Given the description of an element on the screen output the (x, y) to click on. 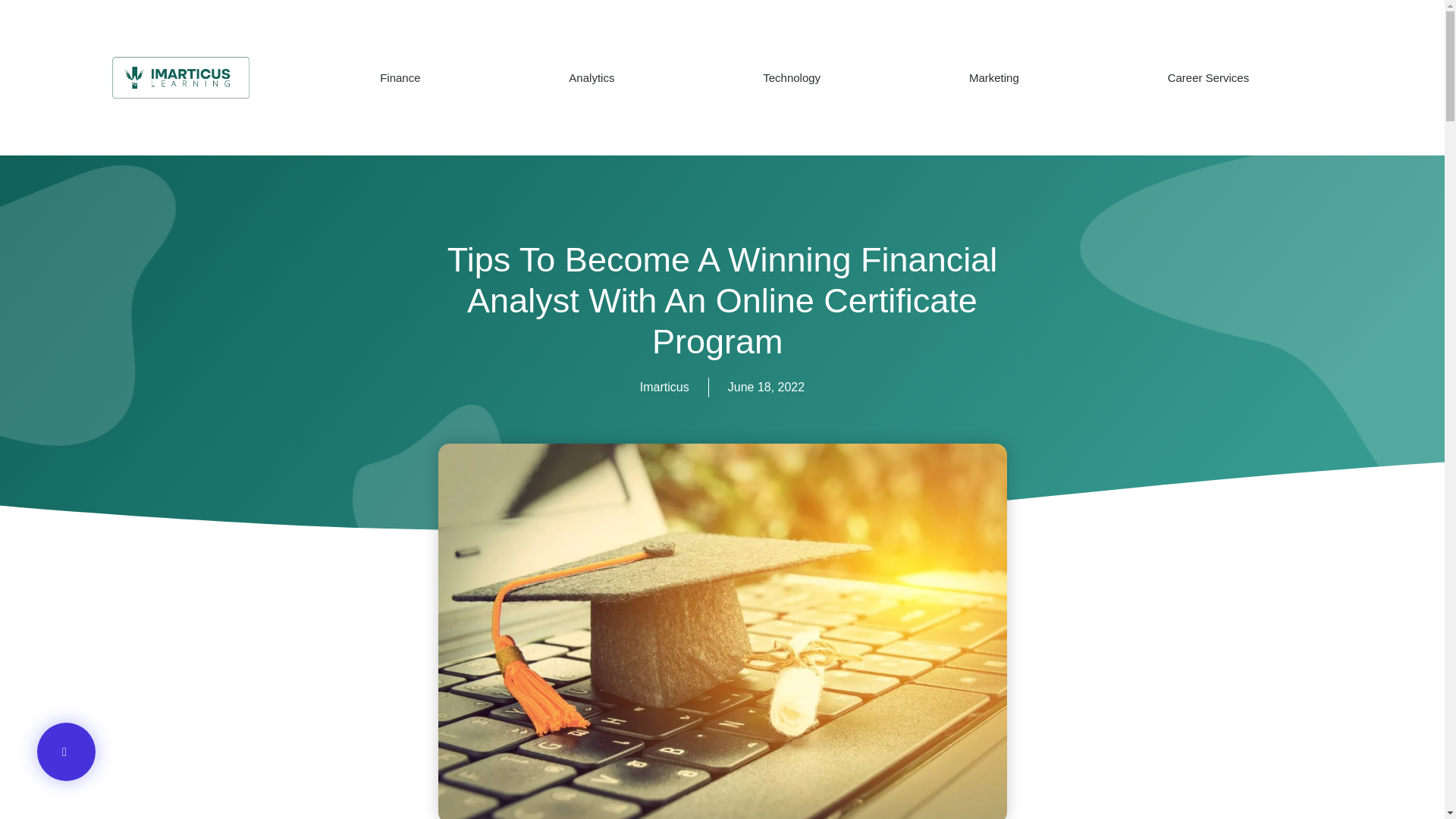
Career Services (1208, 77)
June 18, 2022 (766, 387)
Analytics (591, 77)
Finance (400, 77)
Technology (791, 77)
Marketing (994, 77)
Imarticus (664, 387)
